Given the description of an element on the screen output the (x, y) to click on. 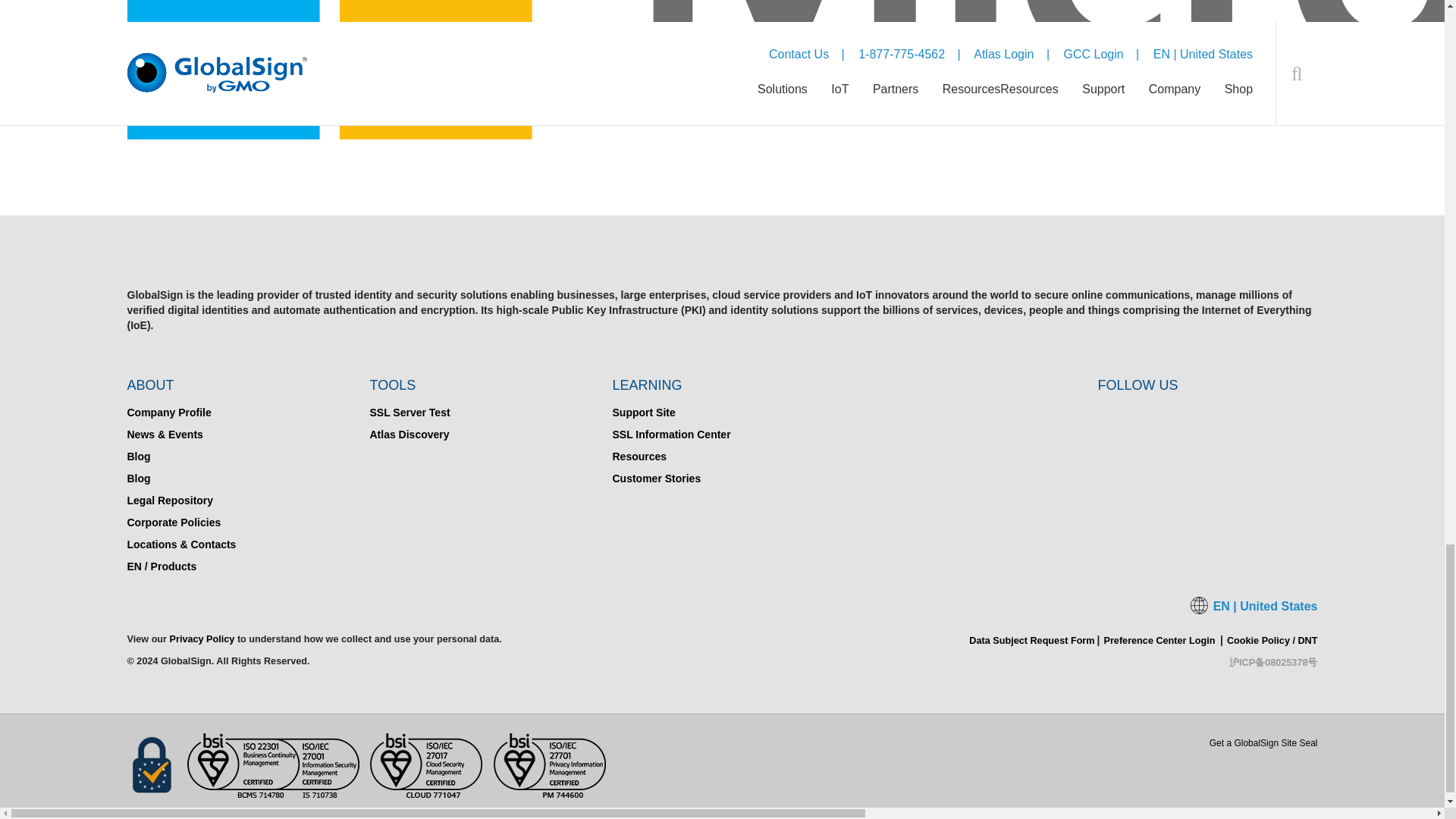
GlobalSign Site Seal (1263, 771)
